Given the description of an element on the screen output the (x, y) to click on. 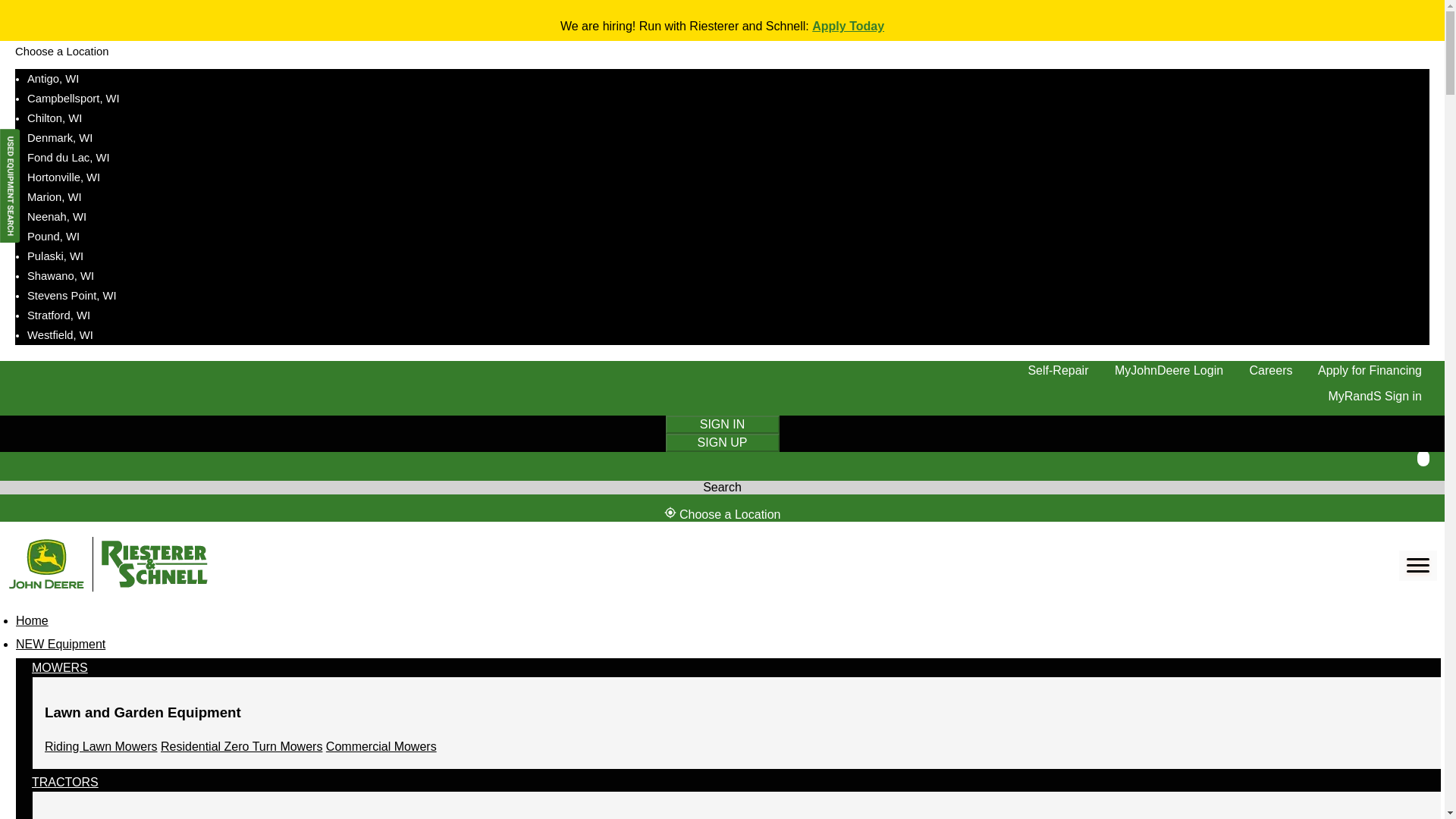
MOWERS (59, 670)
Commercial Mowers (381, 746)
Careers (1270, 369)
SIGN IN (721, 423)
Apply for Financing (1369, 369)
Apply Today (847, 25)
TRACTORS (65, 785)
MyJohnDeere Login (1169, 369)
Riding Lawn Mowers (101, 746)
SIGN UP (721, 443)
